Given the description of an element on the screen output the (x, y) to click on. 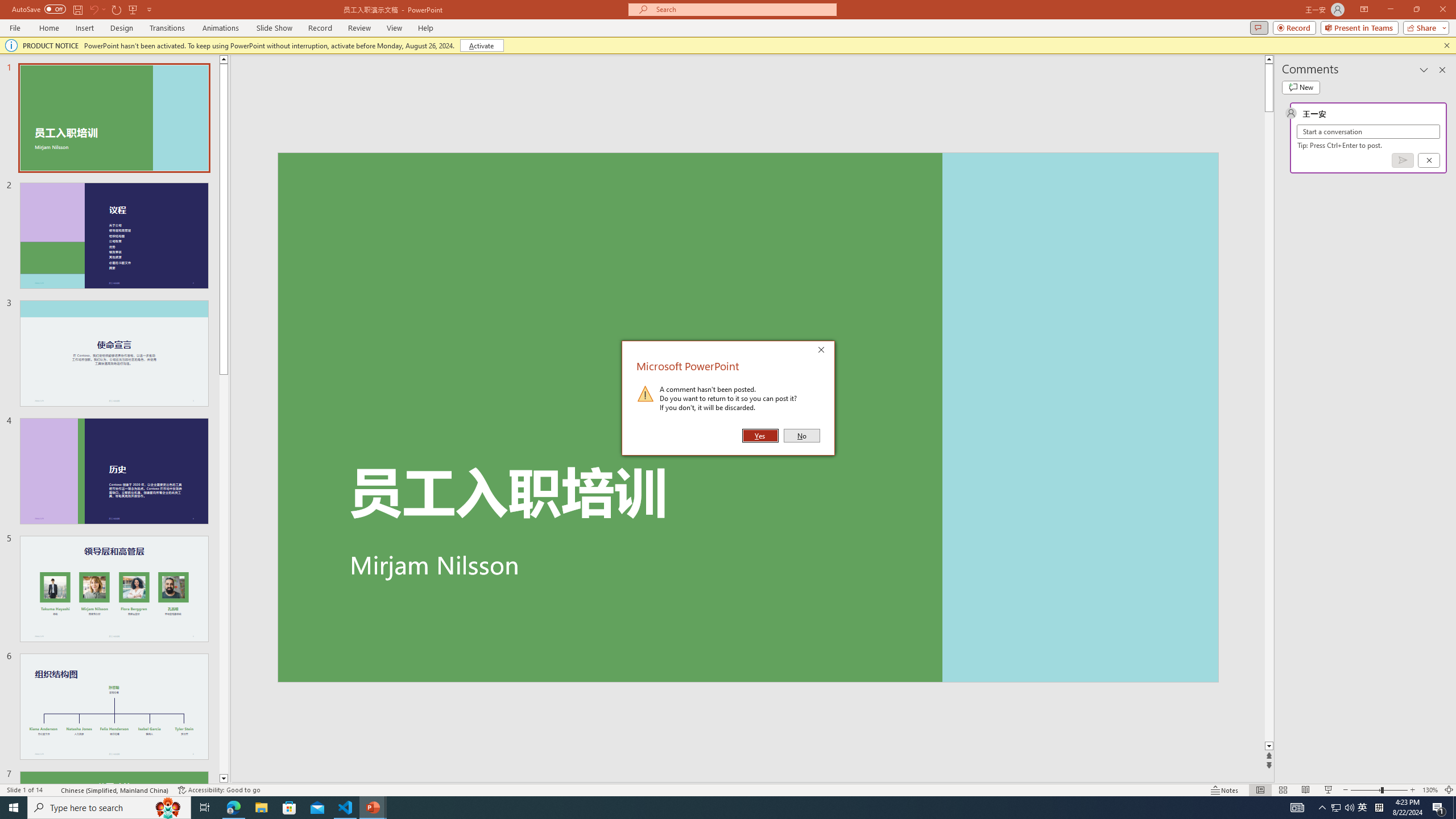
Close this message (1446, 45)
Post comment (Ctrl + Enter) (1402, 160)
New comment (1300, 87)
